Given the description of an element on the screen output the (x, y) to click on. 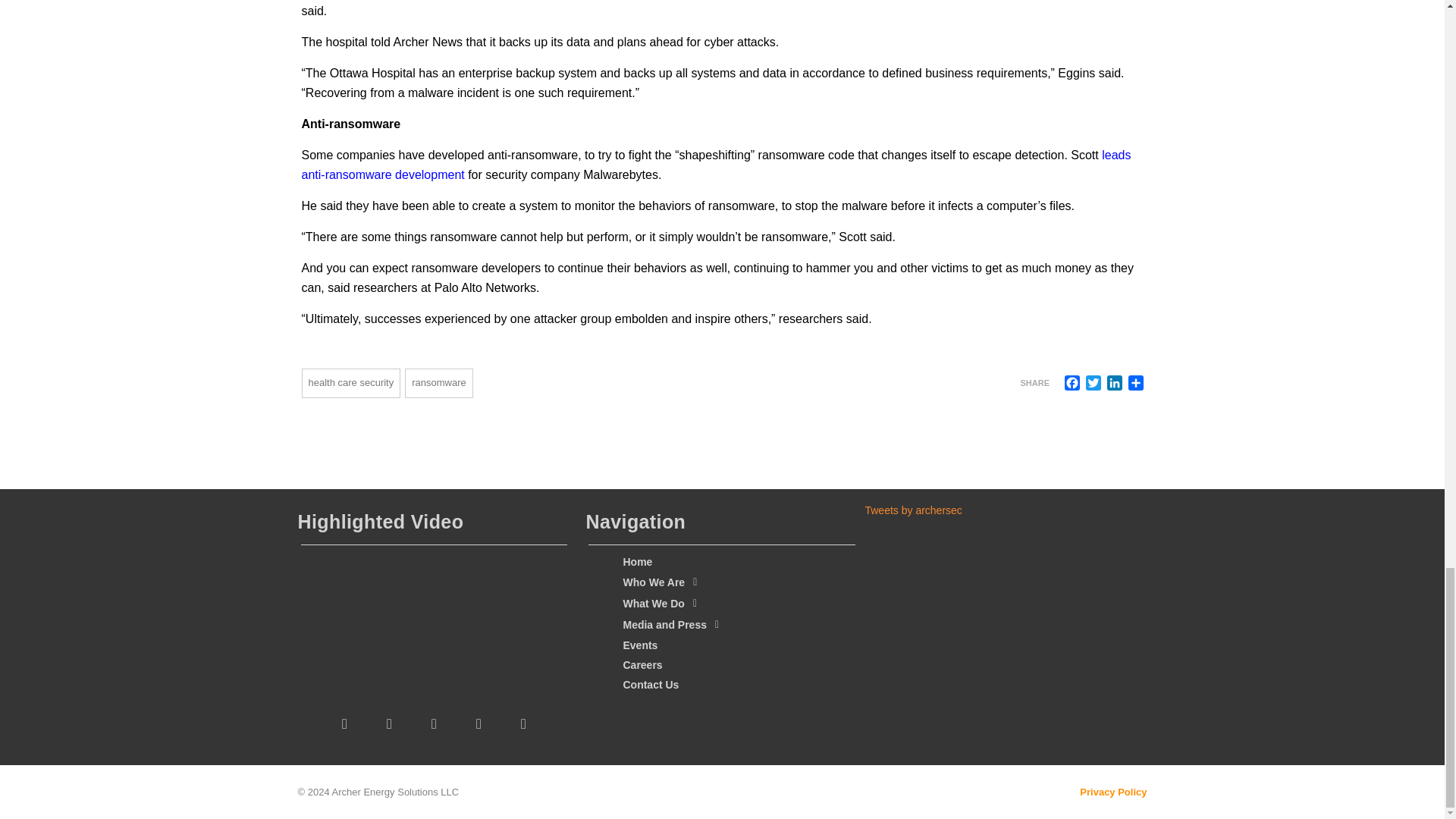
LinkedIn (1114, 382)
Facebook (1072, 382)
Twitter (1093, 382)
Facebook (1072, 382)
health care security (351, 383)
ransomware (438, 383)
Twitter (1093, 382)
LinkedIn (1114, 382)
leads anti-ransomware development (716, 164)
